Given the description of an element on the screen output the (x, y) to click on. 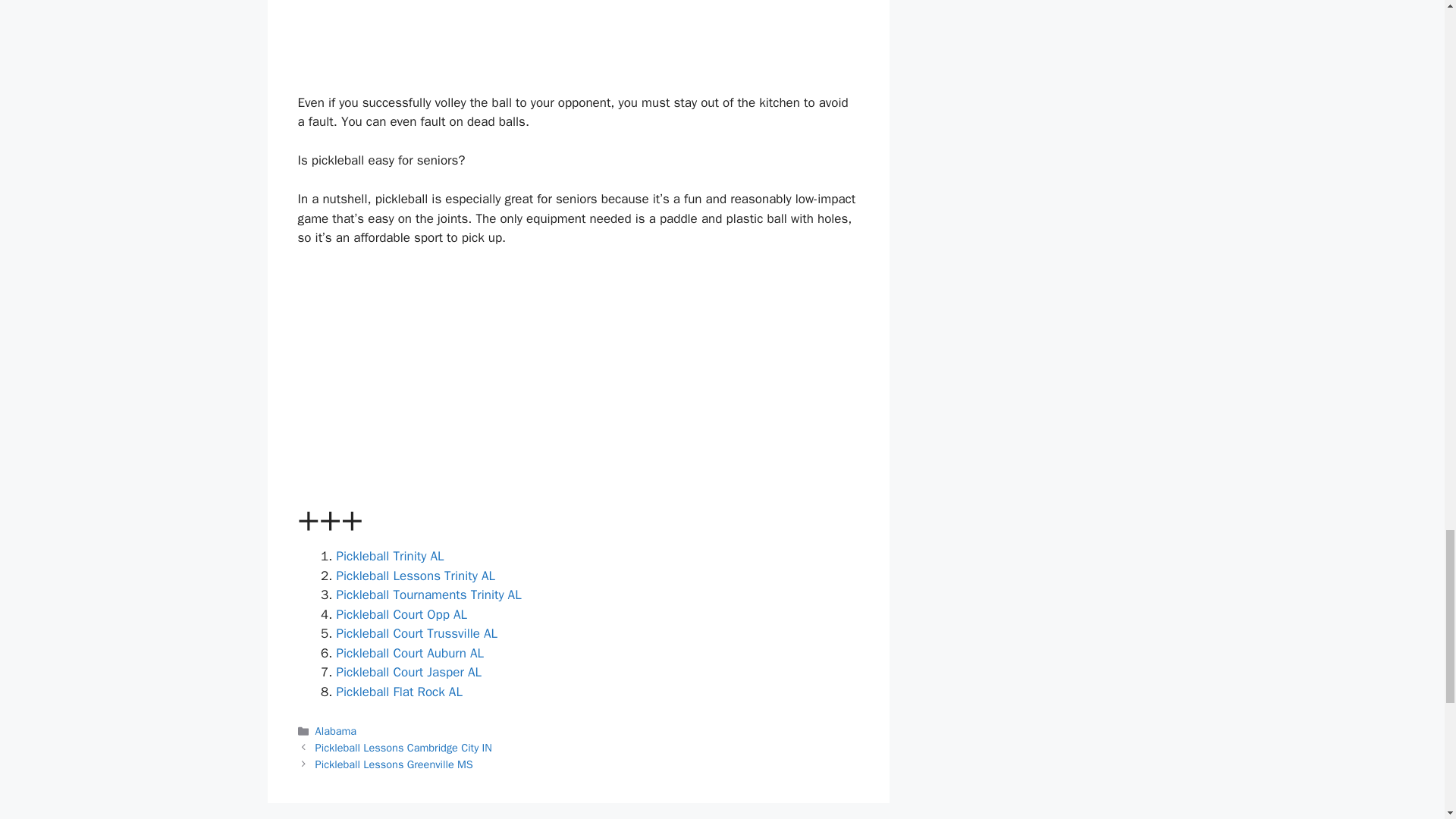
Alabama (335, 730)
Pickleball Court Jasper AL (408, 672)
Pickleball Lessons Greenville MS (394, 764)
Pickleball Court Opp AL (401, 614)
Pickleball Lessons Trinity AL (416, 575)
Pickleball Flat Rock AL (399, 691)
Pickleball Court Jasper AL (408, 672)
Pickleball Flat Rock AL (399, 691)
Pickleball Lessons Cambridge City IN (403, 747)
Pickleball Tournaments Trinity AL (428, 594)
